Given the description of an element on the screen output the (x, y) to click on. 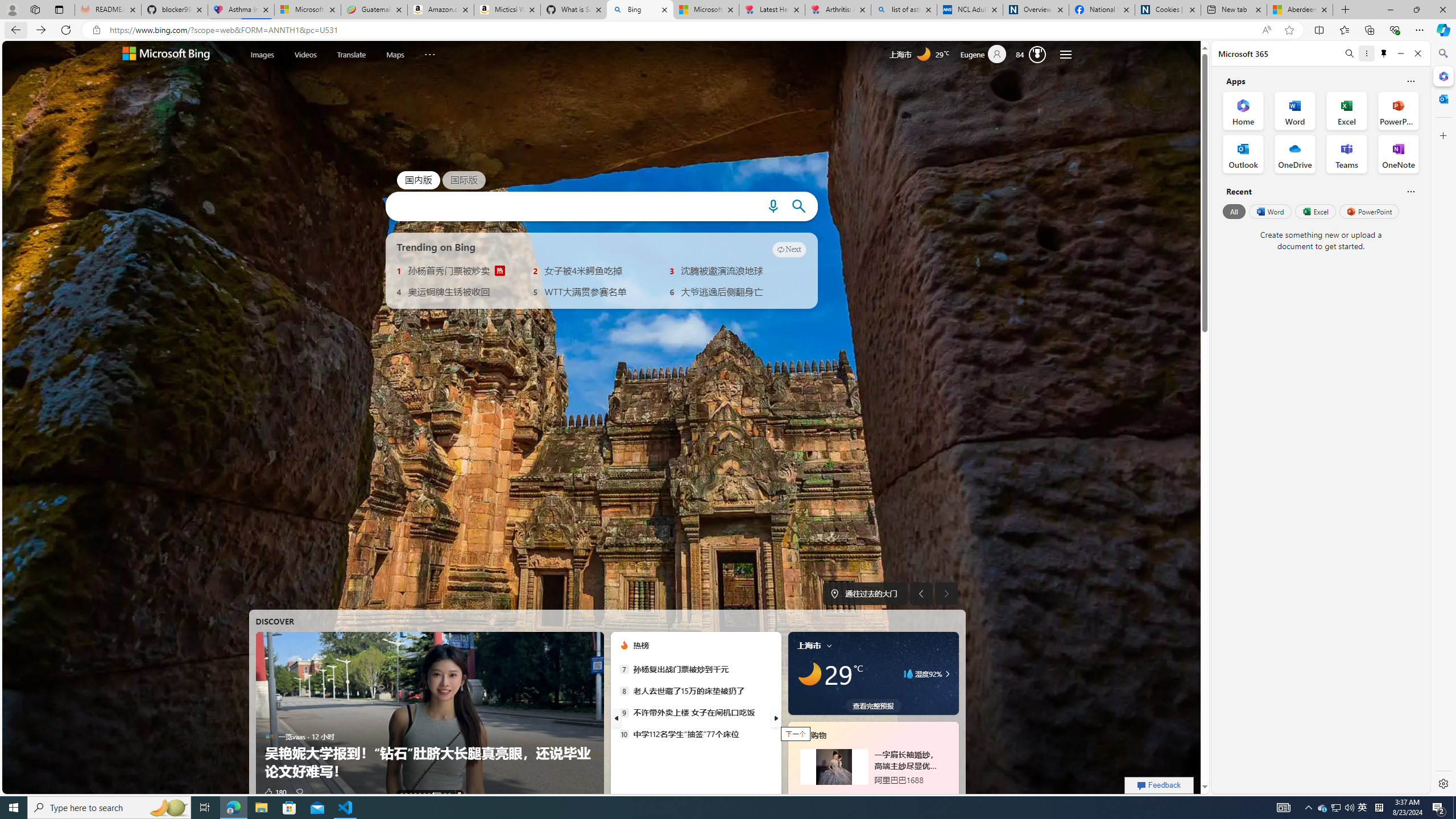
tab-10 (892, 795)
Teams Office App (1346, 154)
Maps (394, 54)
Next image (946, 593)
Class: weather-arrow-glyph (946, 673)
Translate (351, 53)
AutomationID: rh_meter (1037, 54)
